Given the description of an element on the screen output the (x, y) to click on. 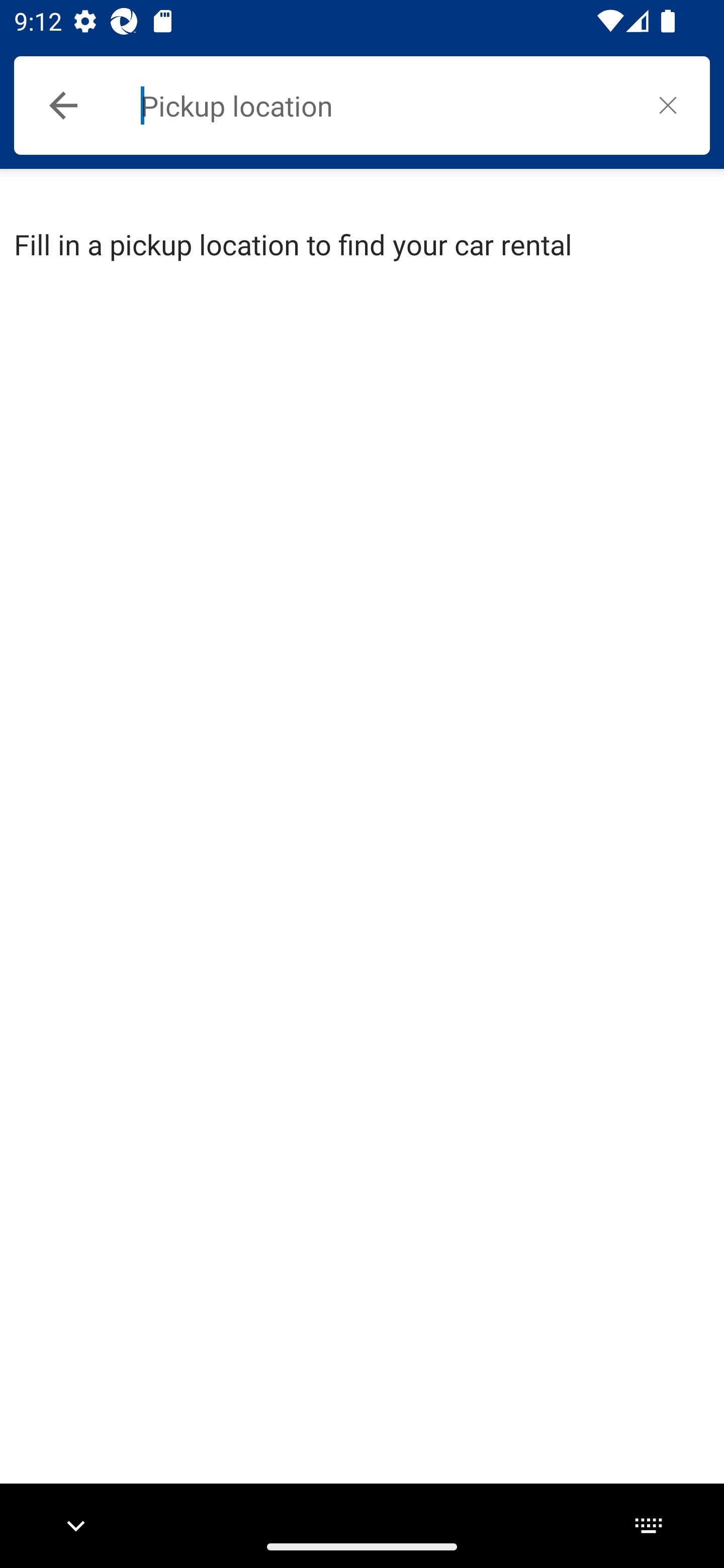
Navigate up (62, 105)
놕 (667, 104)
Pickup location (382, 105)
